Given the description of an element on the screen output the (x, y) to click on. 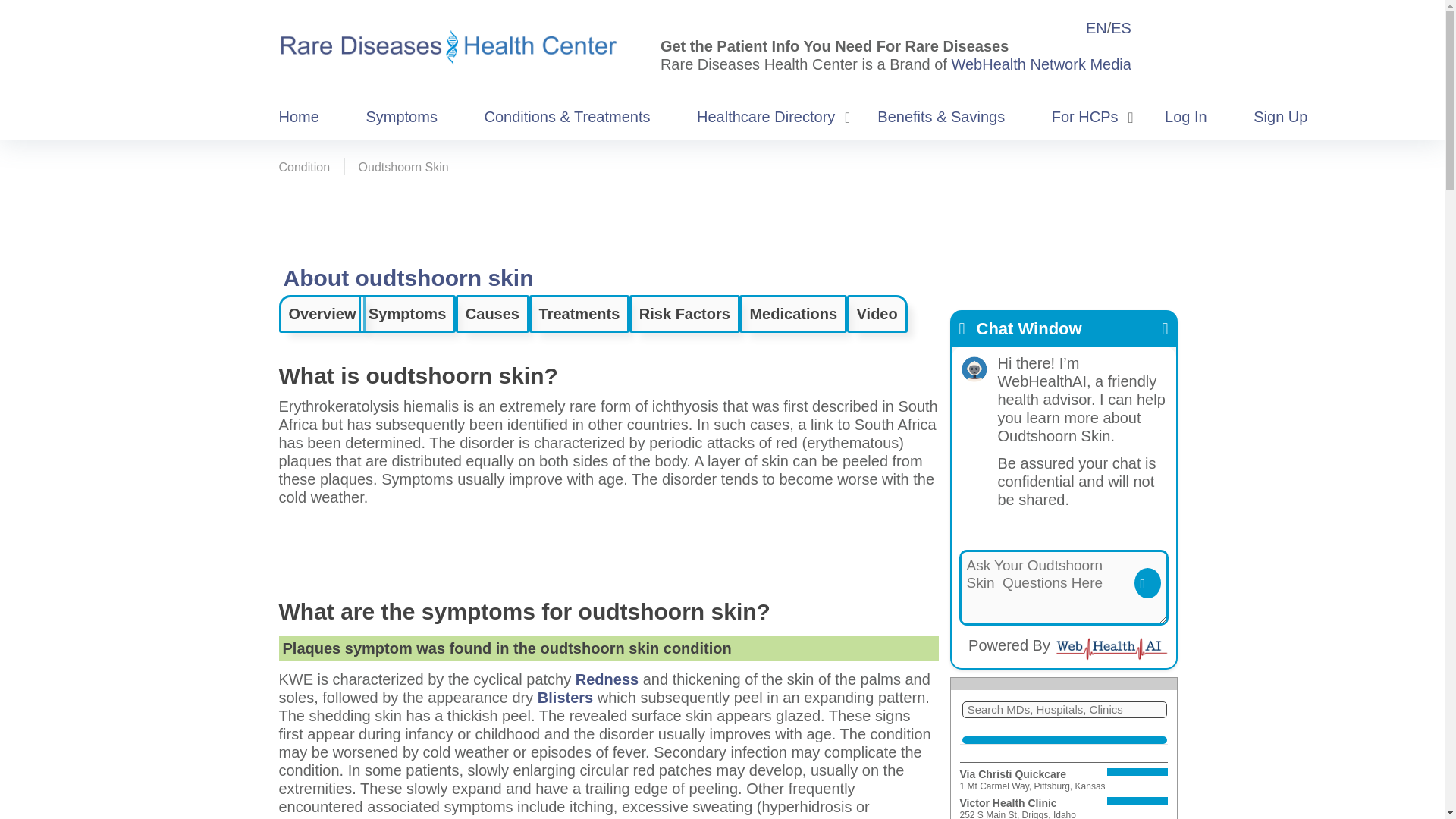
For HCPs (1084, 116)
Healthcare Directory (765, 116)
3rd party ad content (607, 549)
Home (302, 116)
3rd party ad content (721, 215)
Log In (1185, 116)
WebHealth Network Media (1040, 64)
EN (1096, 27)
Sign Up (1280, 116)
ES (1120, 27)
Symptoms (401, 116)
